Given the description of an element on the screen output the (x, y) to click on. 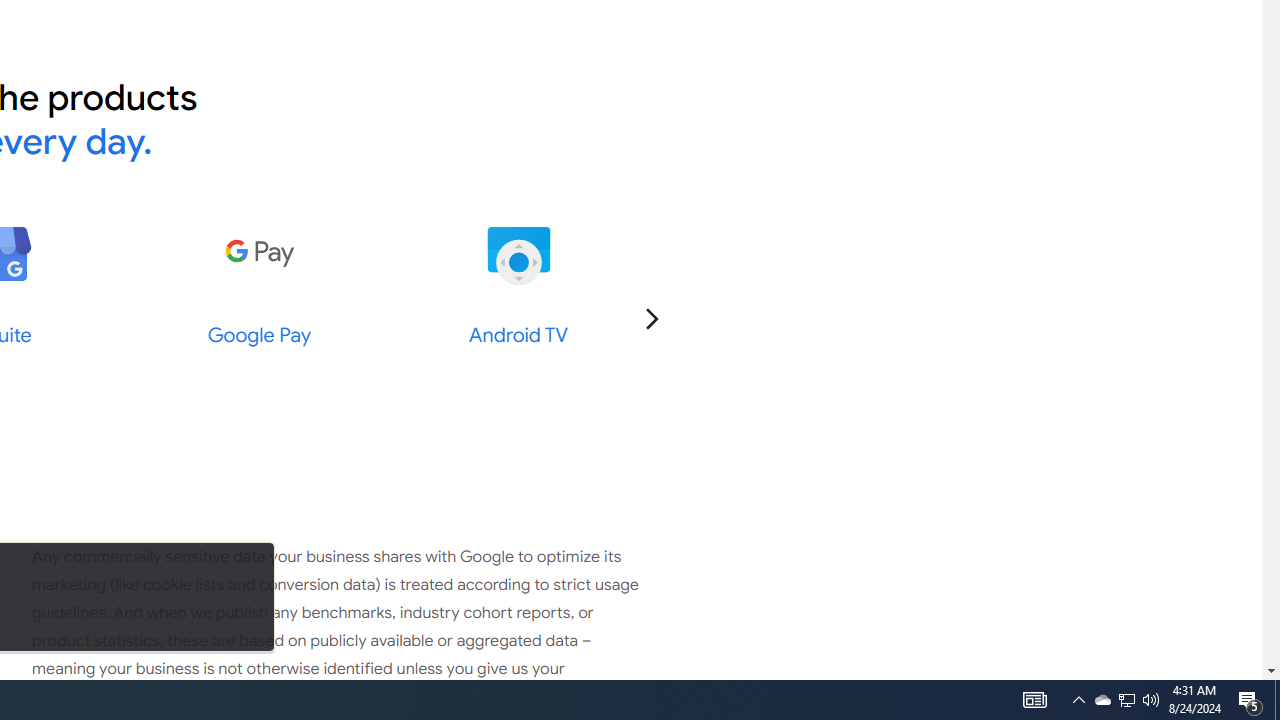
Go to the next slide (651, 318)
Android TV Android TV (518, 283)
Google Pay (258, 254)
Android TV (518, 254)
Google Pay Google Pay (259, 283)
